Given the description of an element on the screen output the (x, y) to click on. 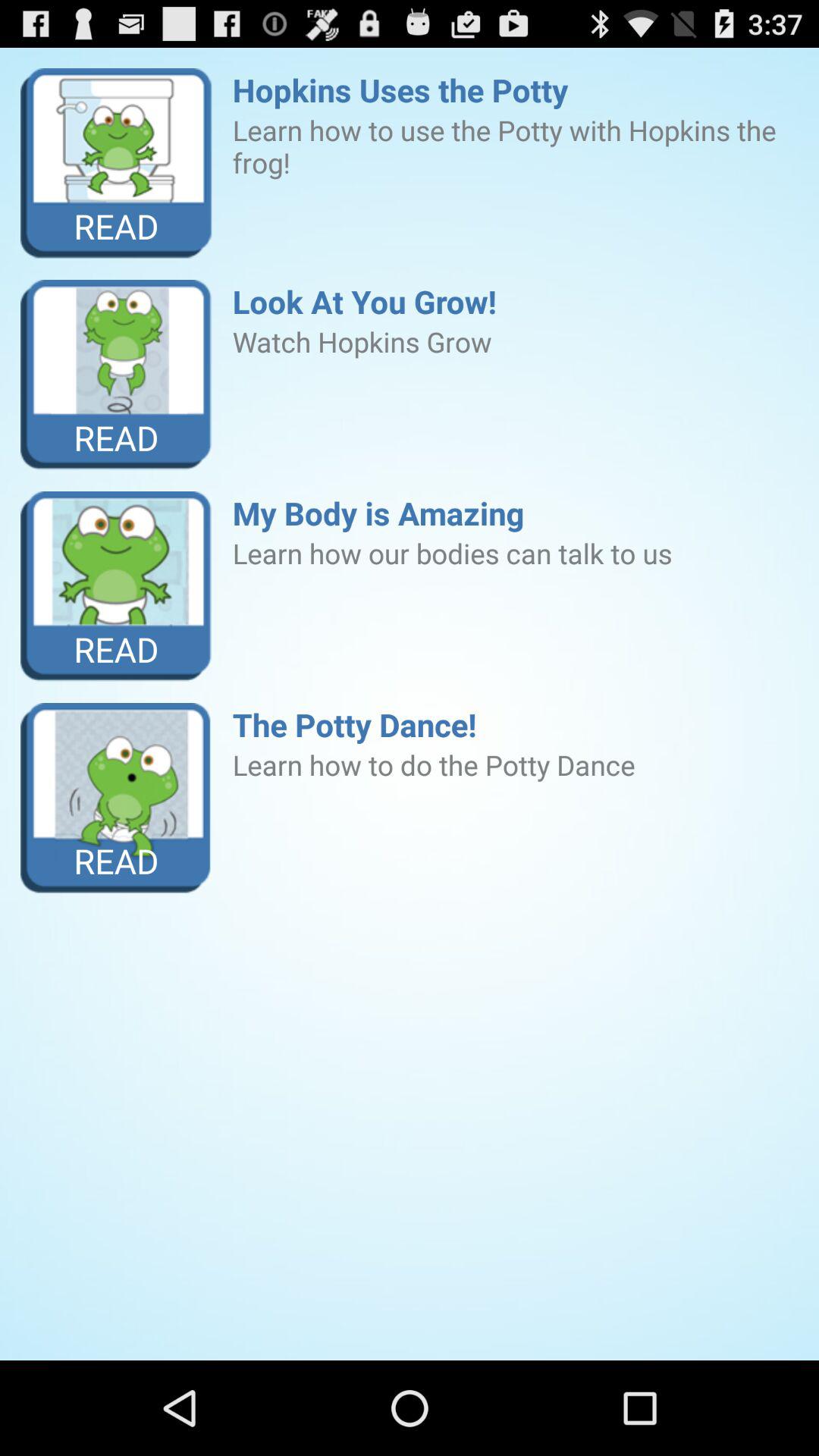
tap app to the left of the look at you item (116, 374)
